Given the description of an element on the screen output the (x, y) to click on. 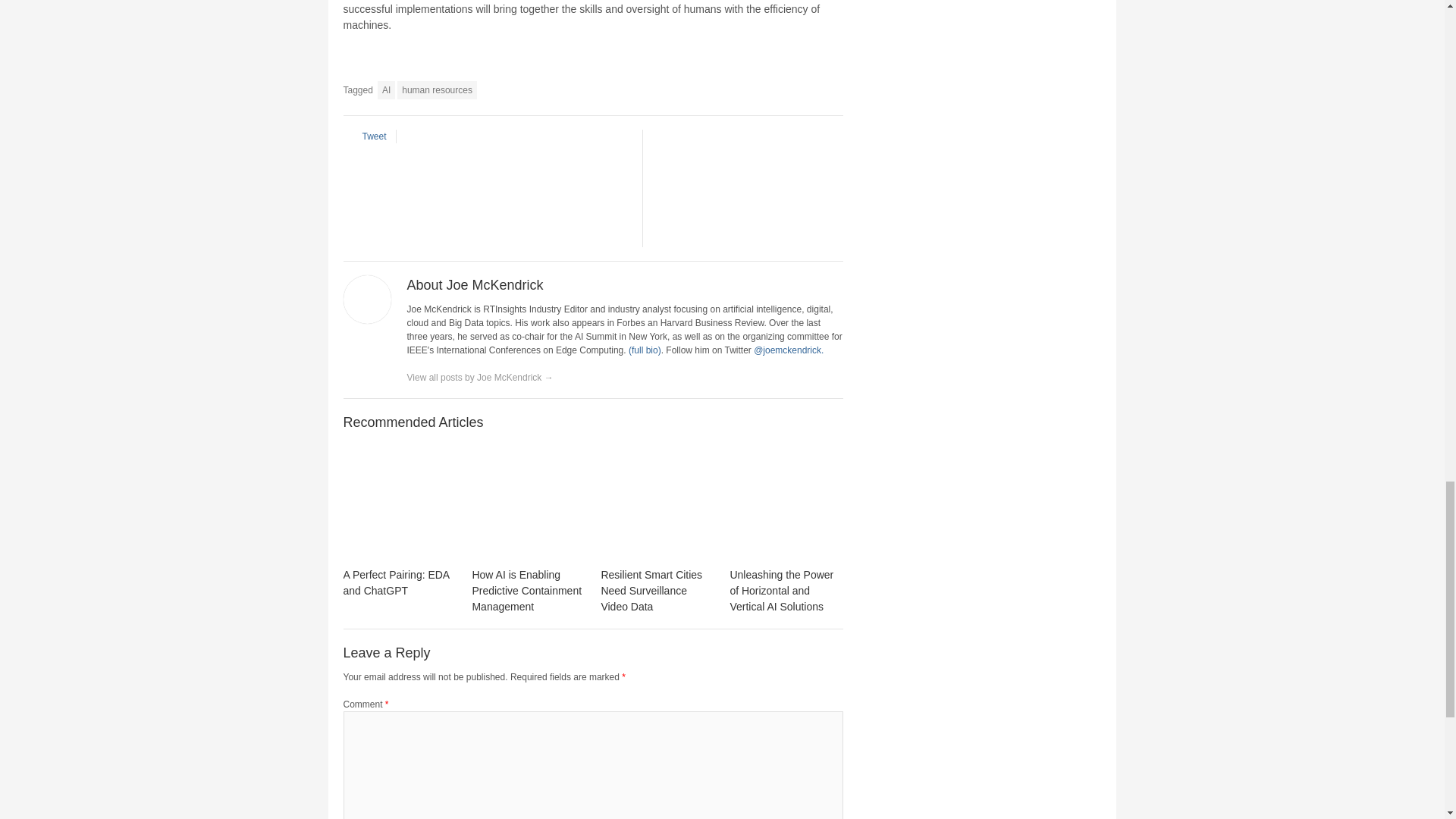
How AI is Enabling Predictive Containment Management (528, 503)
A Perfect Pairing: EDA and ChatGPT (395, 582)
Resilient Smart Cities Need Surveillance Video Data (650, 590)
Resilient Smart Cities Need Surveillance Video Data (656, 503)
A Perfect Pairing: EDA and ChatGPT (399, 503)
How AI is Enabling Predictive Containment Management (525, 590)
